Given the description of an element on the screen output the (x, y) to click on. 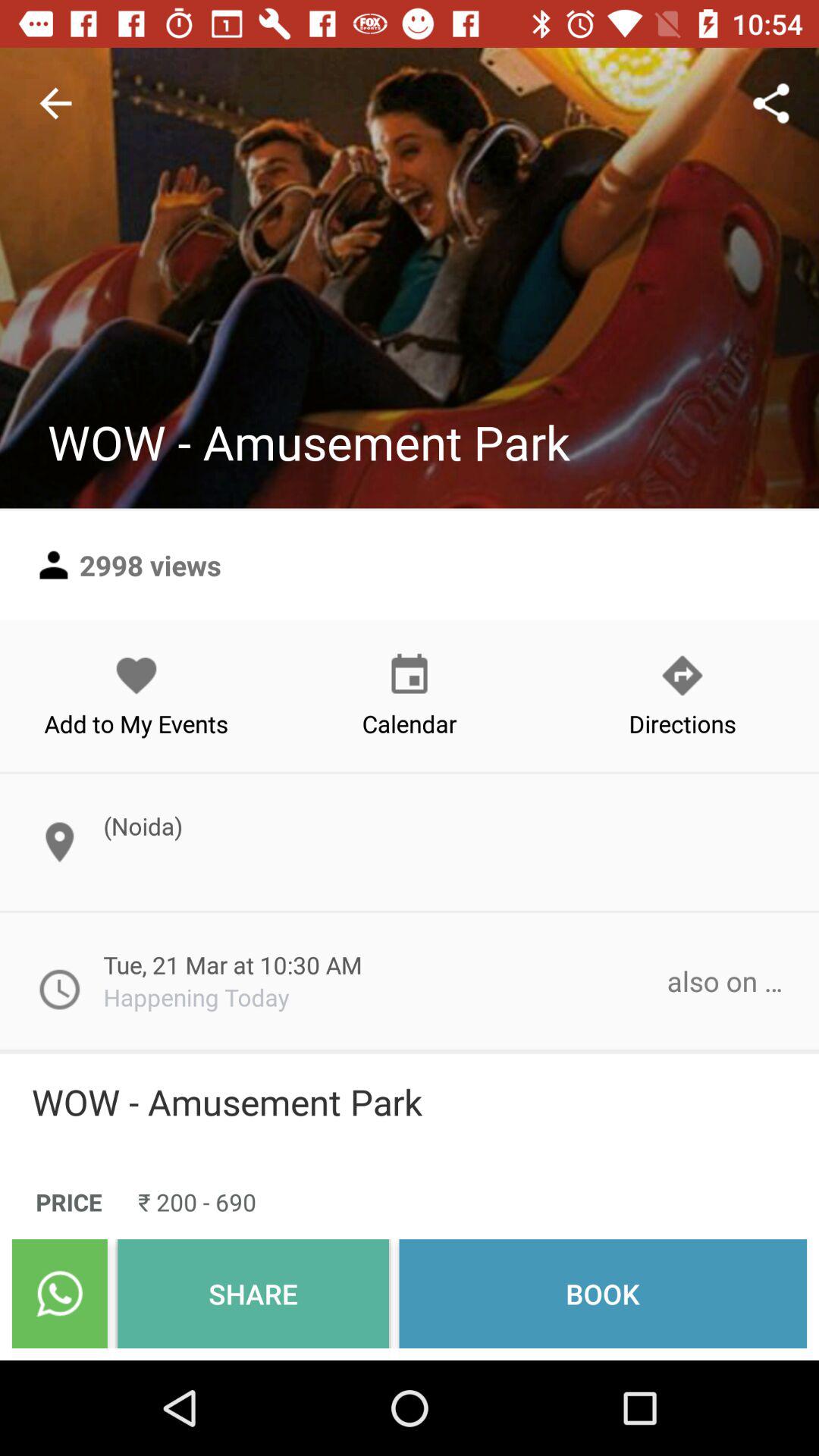
click the icon to the right of the add to my icon (409, 695)
